Given the description of an element on the screen output the (x, y) to click on. 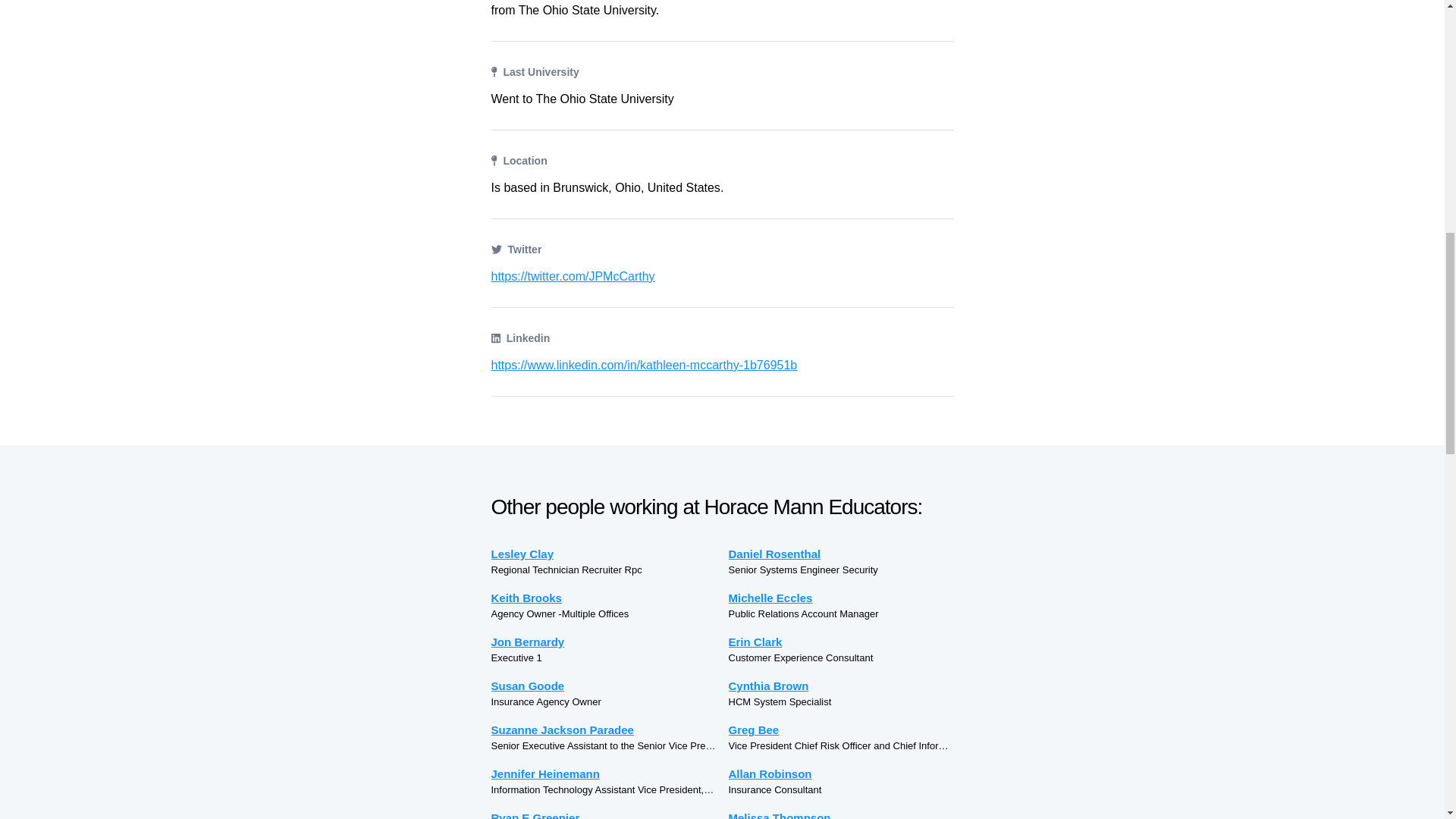
Jennifer Heinemann (604, 773)
Daniel Rosenthal (840, 553)
Susan Goode (604, 685)
Jon Bernardy (604, 641)
Greg Bee (840, 729)
Melissa Thompson (840, 814)
Erin Clark (840, 641)
Cynthia Brown (840, 685)
Lesley Clay (604, 553)
Suzanne Jackson Paradee (604, 729)
